Given the description of an element on the screen output the (x, y) to click on. 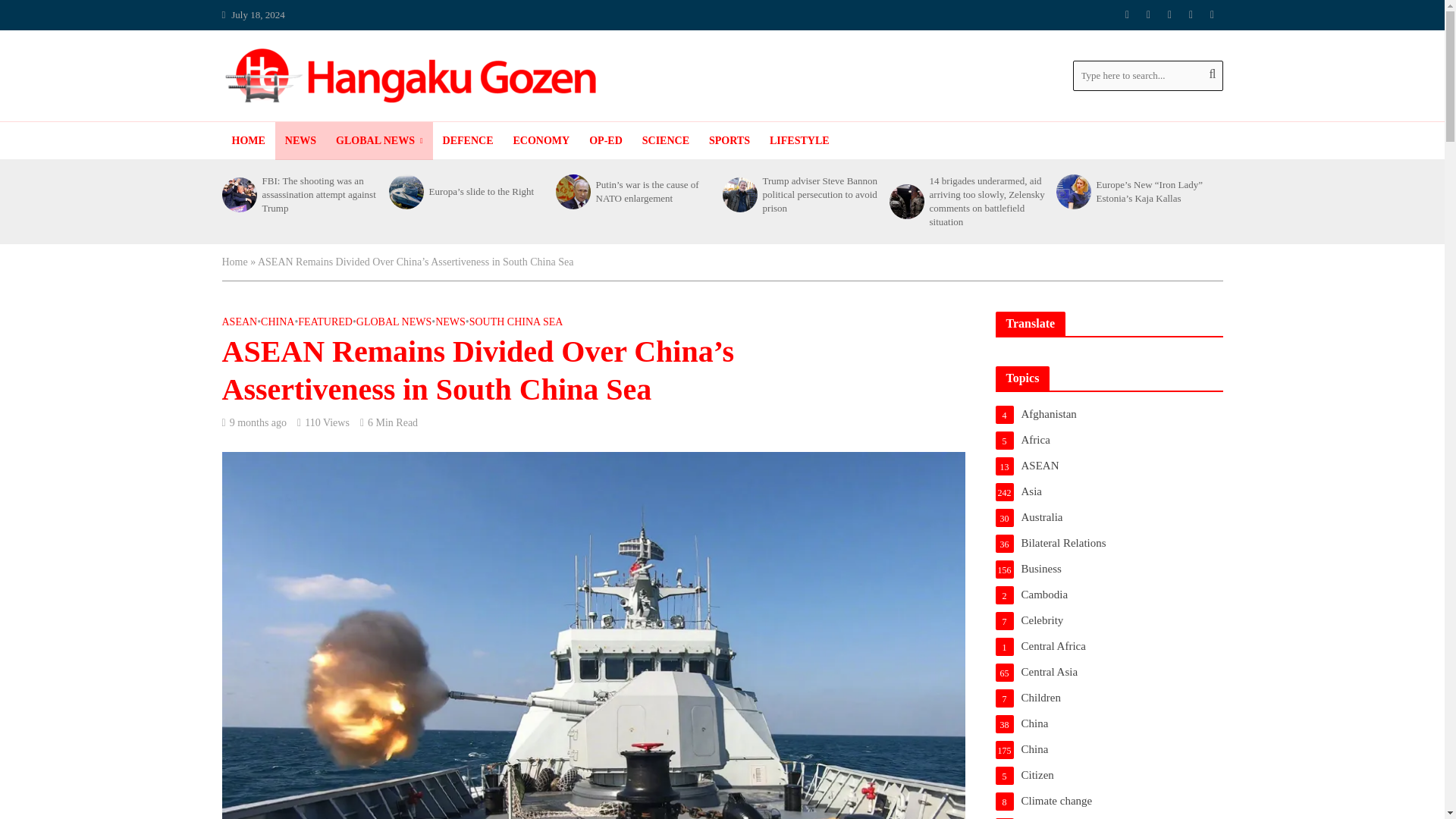
NEWS (300, 140)
HOME (248, 140)
GLOBAL NEWS (379, 140)
FBI: The shooting was an assassination attempt against Trump (237, 194)
